Given the description of an element on the screen output the (x, y) to click on. 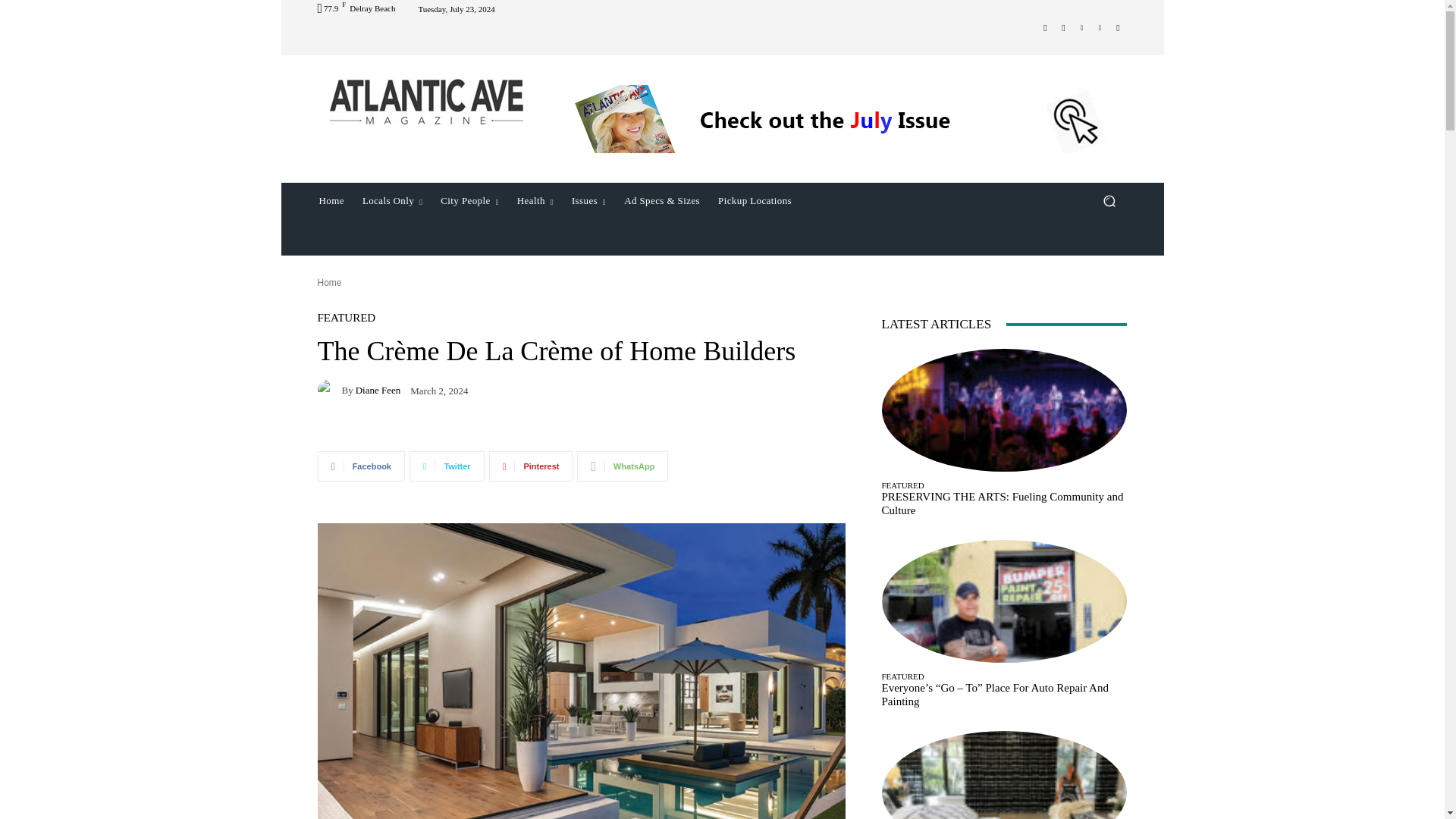
Locals Only (391, 200)
Vimeo (1099, 27)
Home (330, 200)
Twitter (1080, 27)
City People (469, 200)
Instagram (1062, 27)
Facebook (1044, 27)
Youtube (1117, 27)
